Given the description of an element on the screen output the (x, y) to click on. 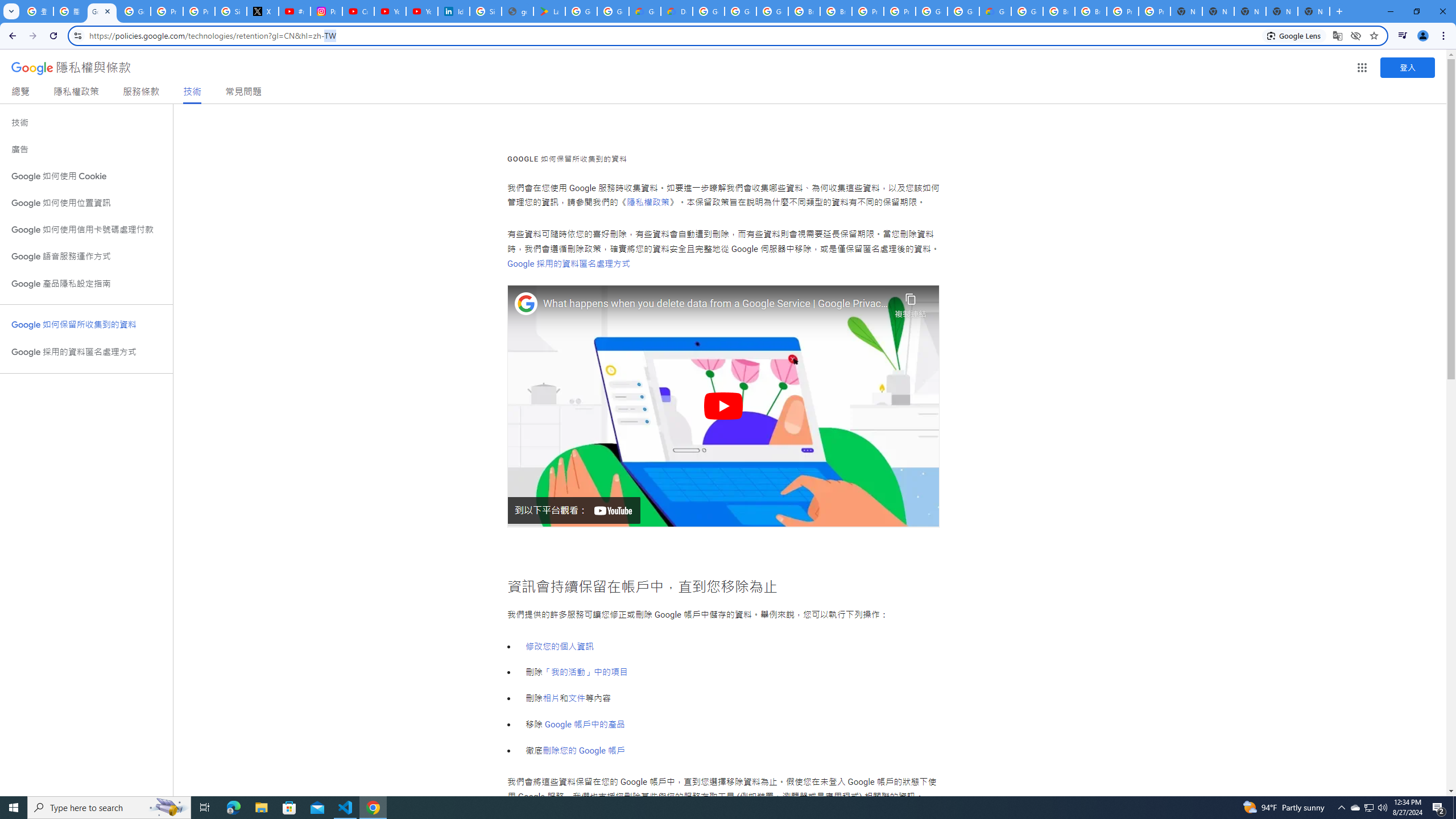
Last Shelter: Survival - Apps on Google Play (549, 11)
Third-party cookies blocked (1355, 35)
Browse Chrome as a guest - Computer - Google Chrome Help (836, 11)
Google Cloud Platform (708, 11)
New Tab (1313, 11)
View site information (77, 35)
